Given the description of an element on the screen output the (x, y) to click on. 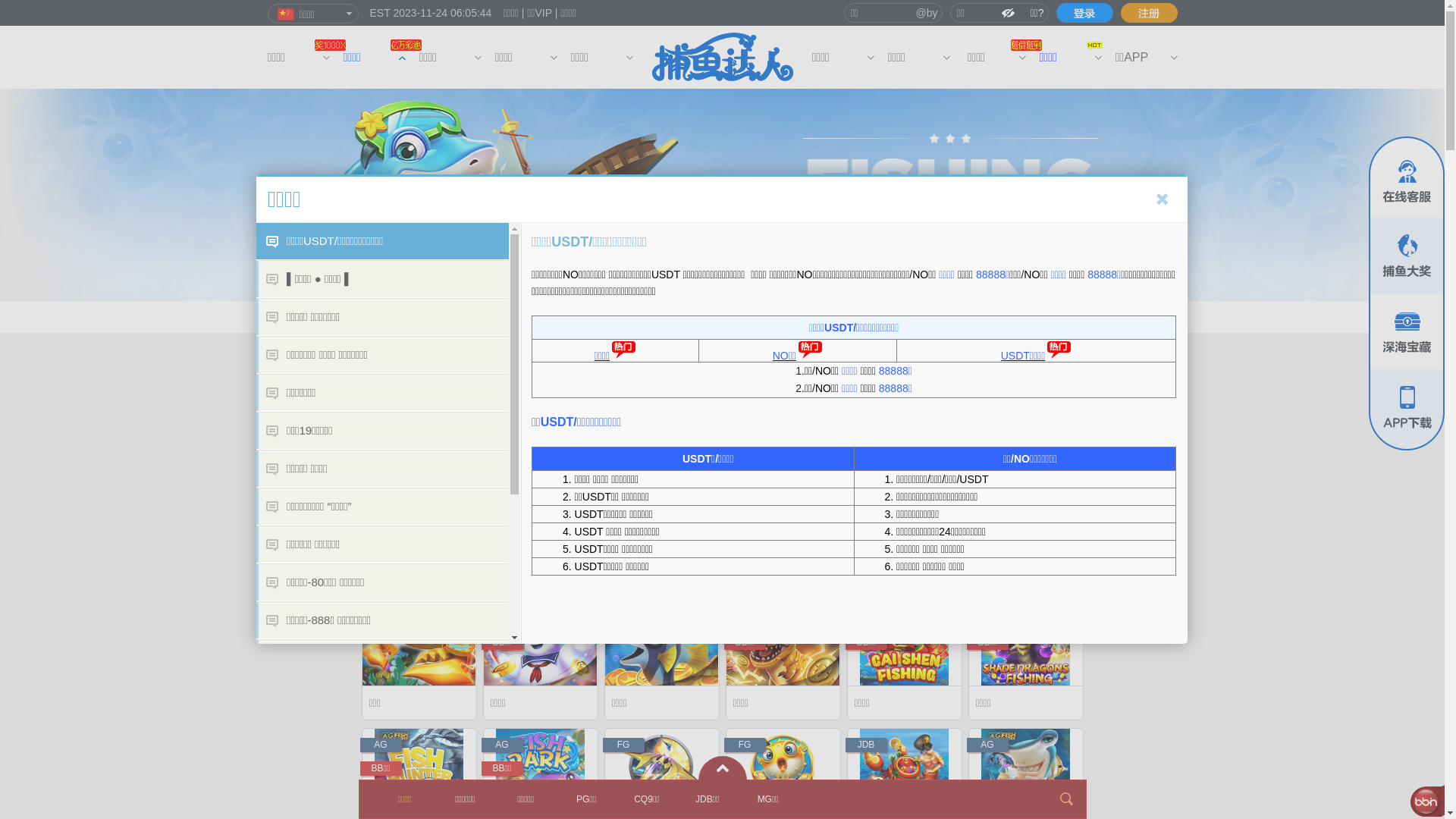
  Element type: text (1083, 12)
